Given the description of an element on the screen output the (x, y) to click on. 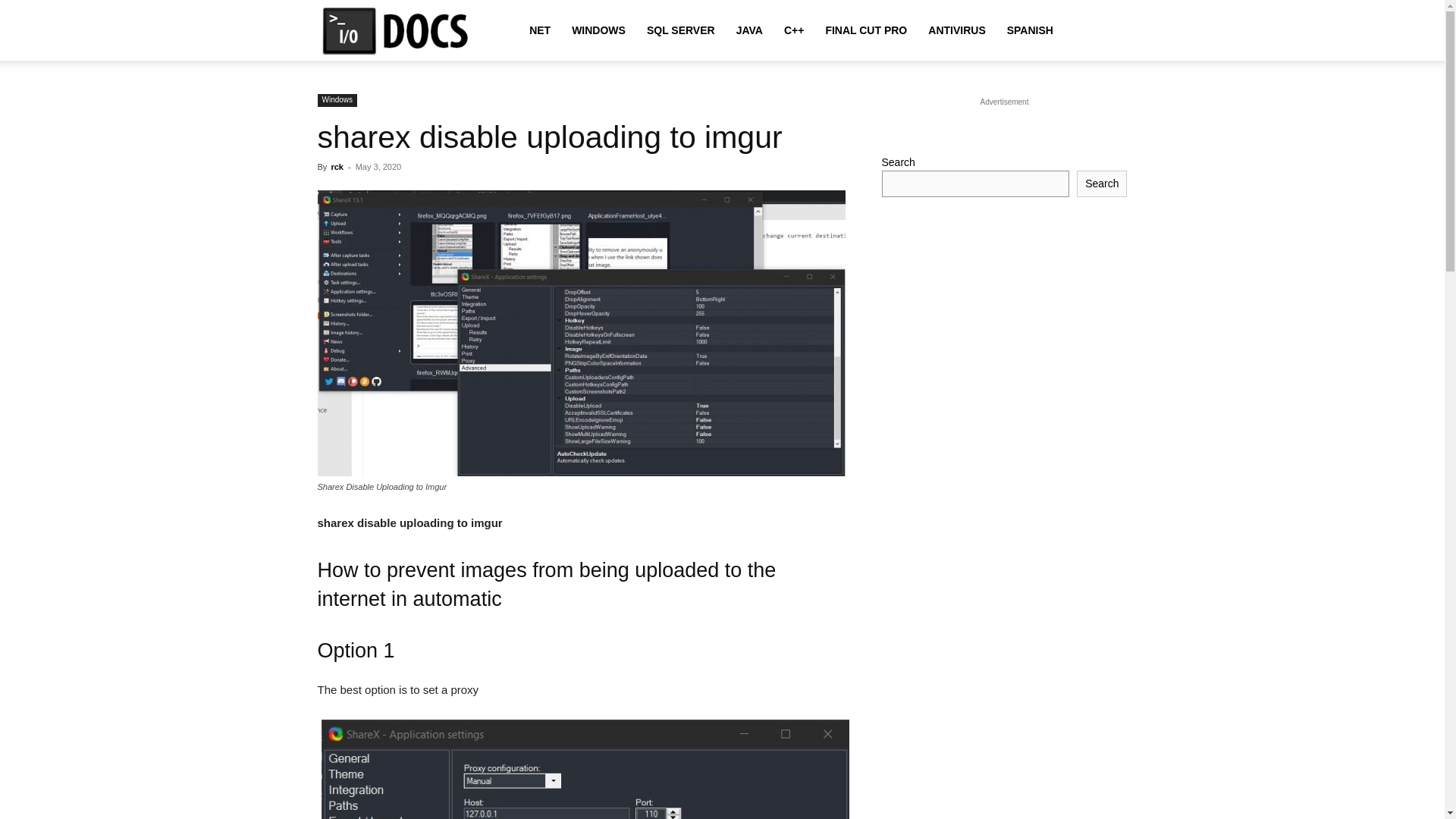
Windows (336, 100)
iodocs.com (401, 30)
rck (336, 166)
ANTIVIRUS (956, 30)
SQL SERVER (680, 30)
IODocs (401, 30)
SPANISH (1029, 30)
FINAL CUT PRO (865, 30)
WINDOWS (598, 30)
